Given the description of an element on the screen output the (x, y) to click on. 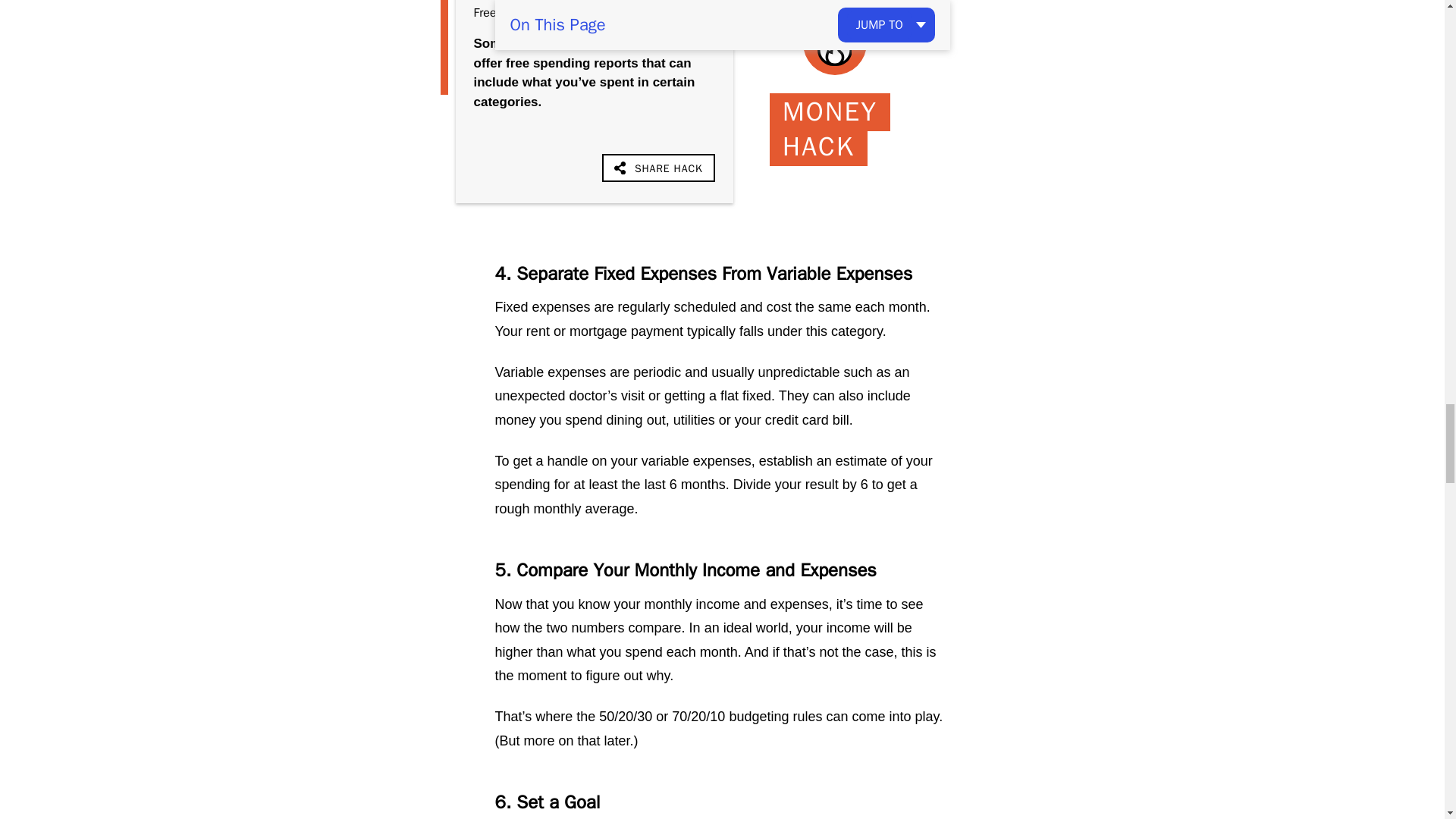
Toggle Share Menu (658, 166)
